Given the description of an element on the screen output the (x, y) to click on. 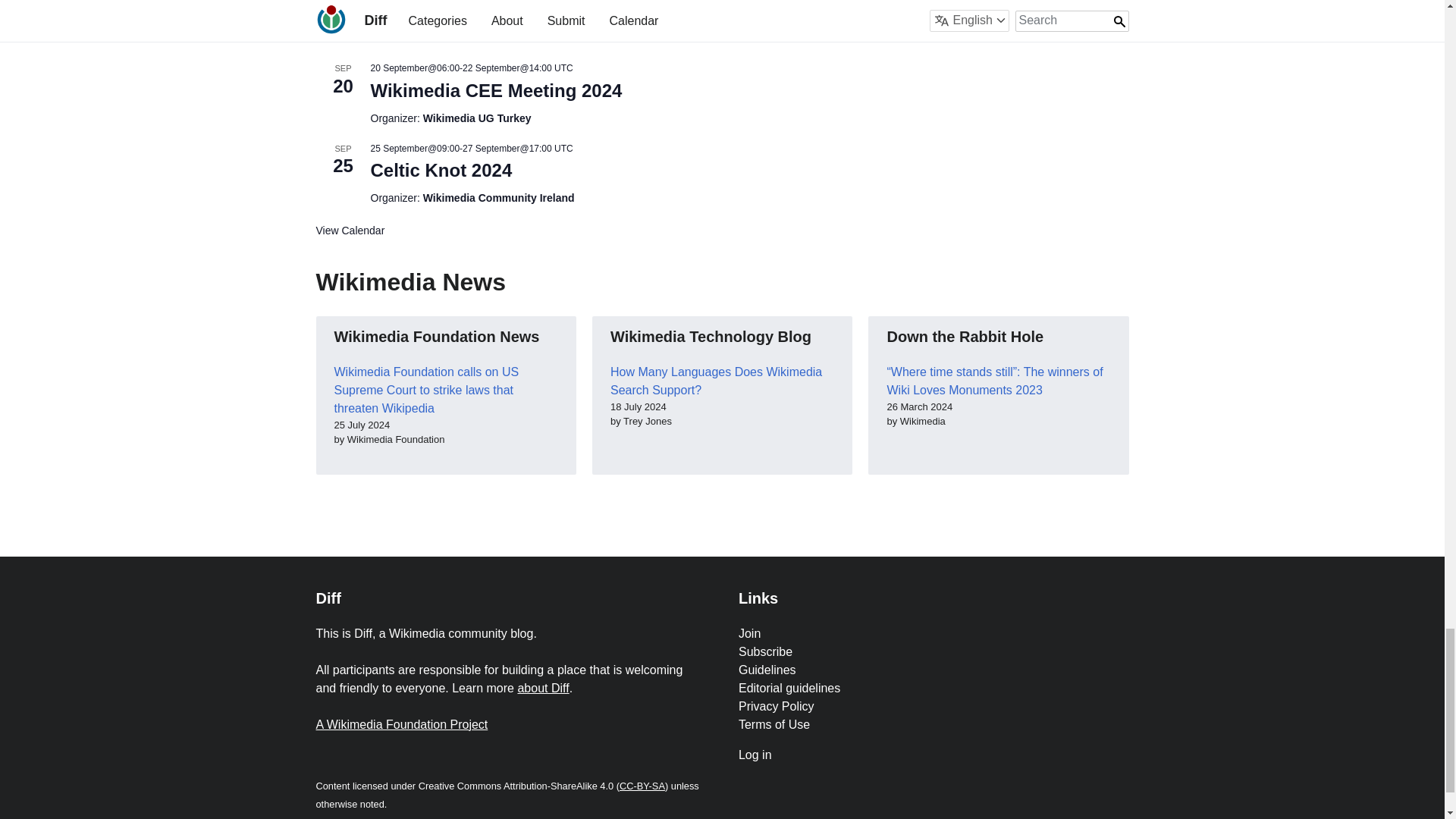
Wikimedia CEE Meeting 2024 (495, 90)
Wikimania Katowice (456, 34)
